Given the description of an element on the screen output the (x, y) to click on. 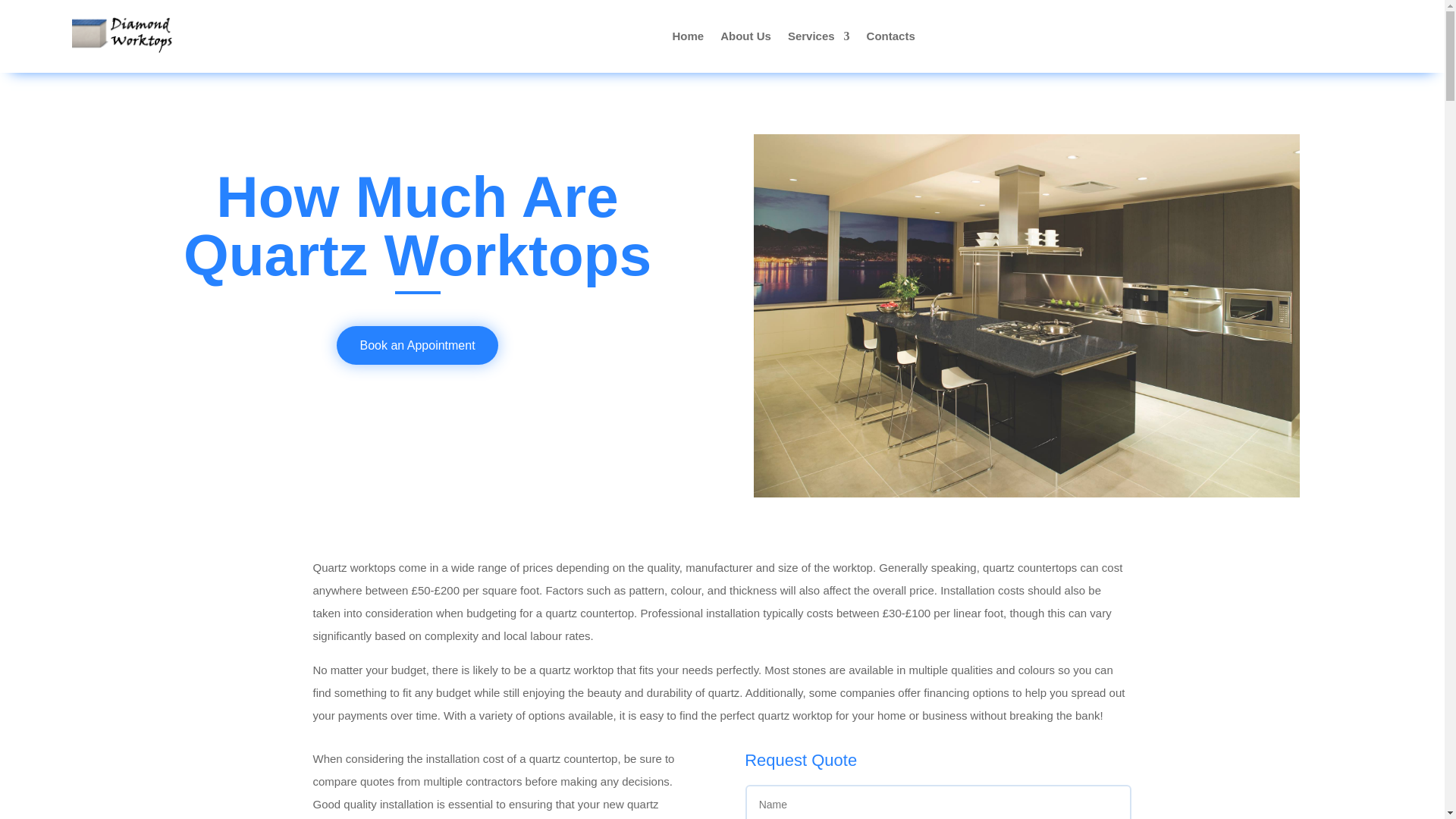
01302-490990 (1326, 0)
Services (818, 36)
Book an Appointment (416, 344)
